Given the description of an element on the screen output the (x, y) to click on. 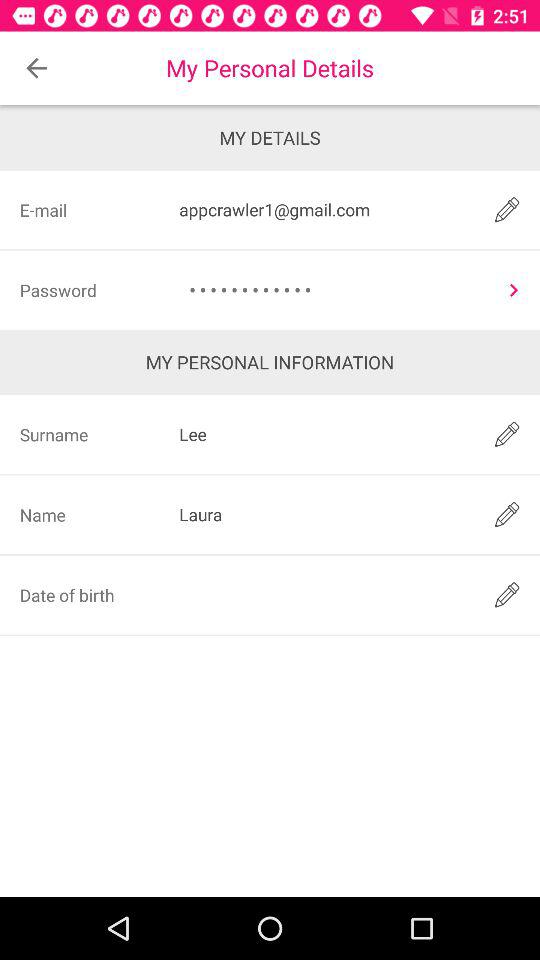
edit (506, 209)
